Given the description of an element on the screen output the (x, y) to click on. 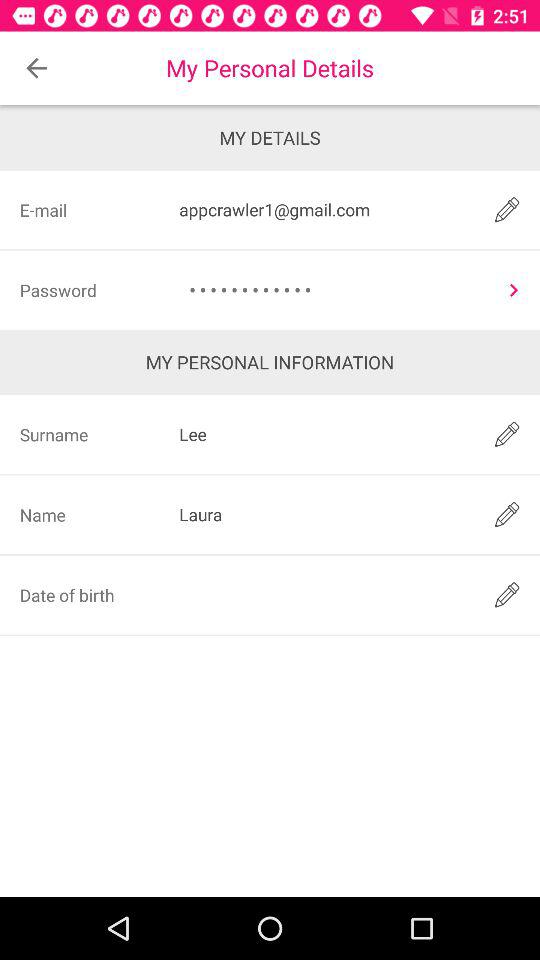
edit (506, 209)
